Given the description of an element on the screen output the (x, y) to click on. 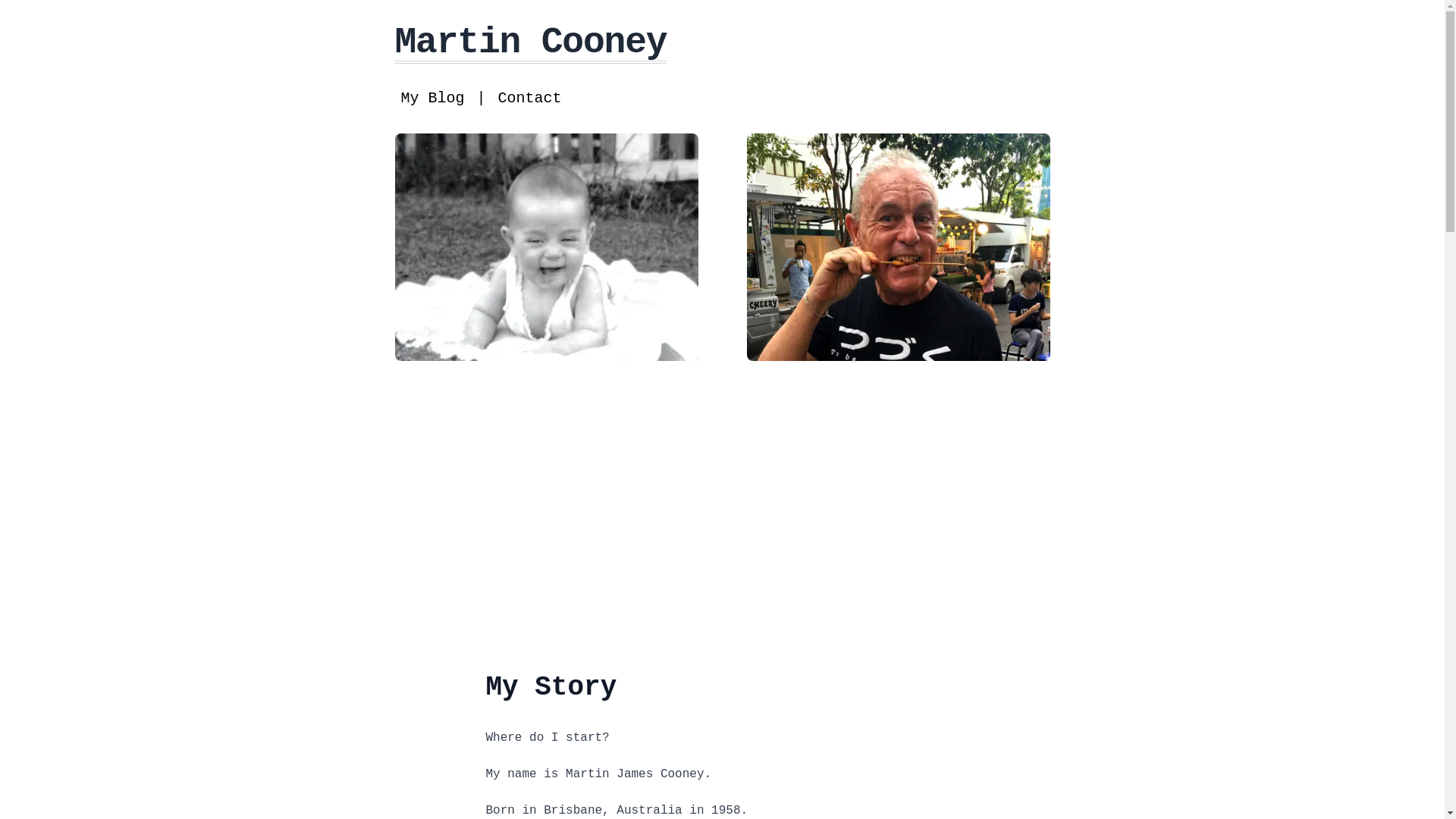
Martin Cooney Element type: text (530, 41)
My Blog Element type: text (432, 97)
Contact Element type: text (529, 97)
